Given the description of an element on the screen output the (x, y) to click on. 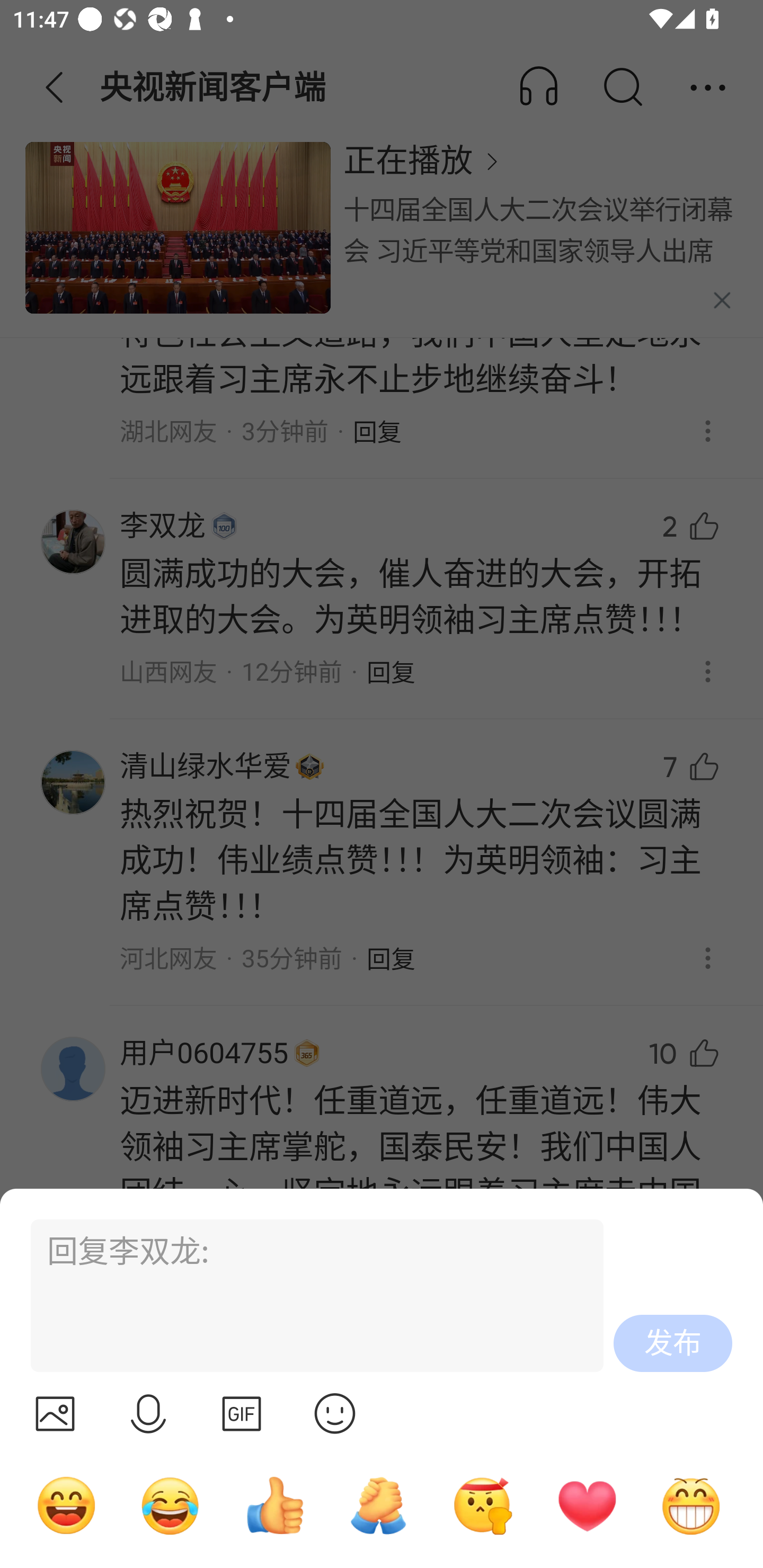
回复李双龙: (308, 1295)
发布 (672, 1343)
 (54, 1413)
 (148, 1413)
 (241, 1413)
 (334, 1413)
哈哈 (66, 1505)
哭笑 (170, 1505)
点赞 (274, 1505)
加油 (378, 1505)
奋斗 (482, 1505)
心 (586, 1505)
呲牙 (690, 1505)
